Given the description of an element on the screen output the (x, y) to click on. 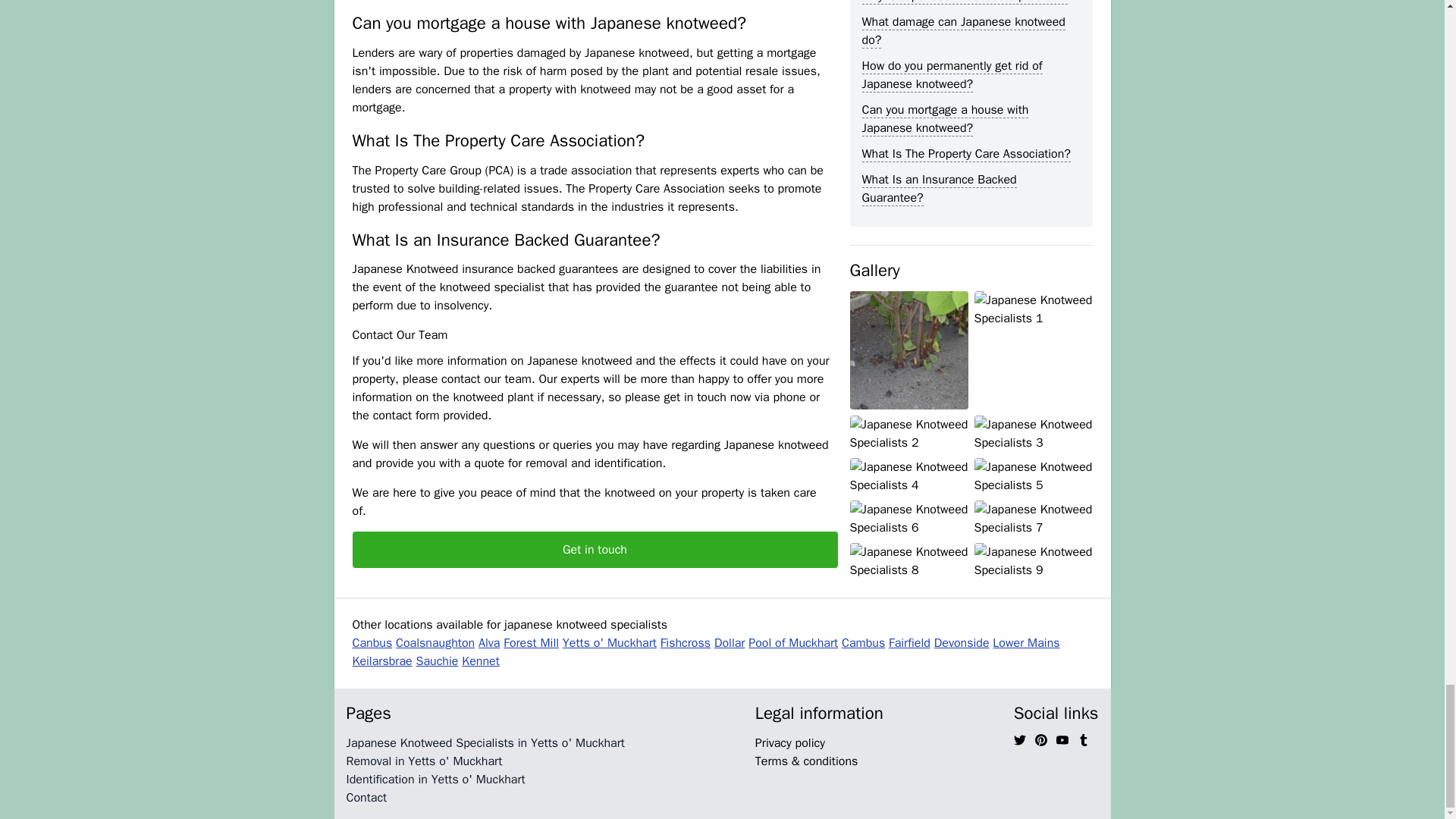
Get in touch (594, 549)
